Given the description of an element on the screen output the (x, y) to click on. 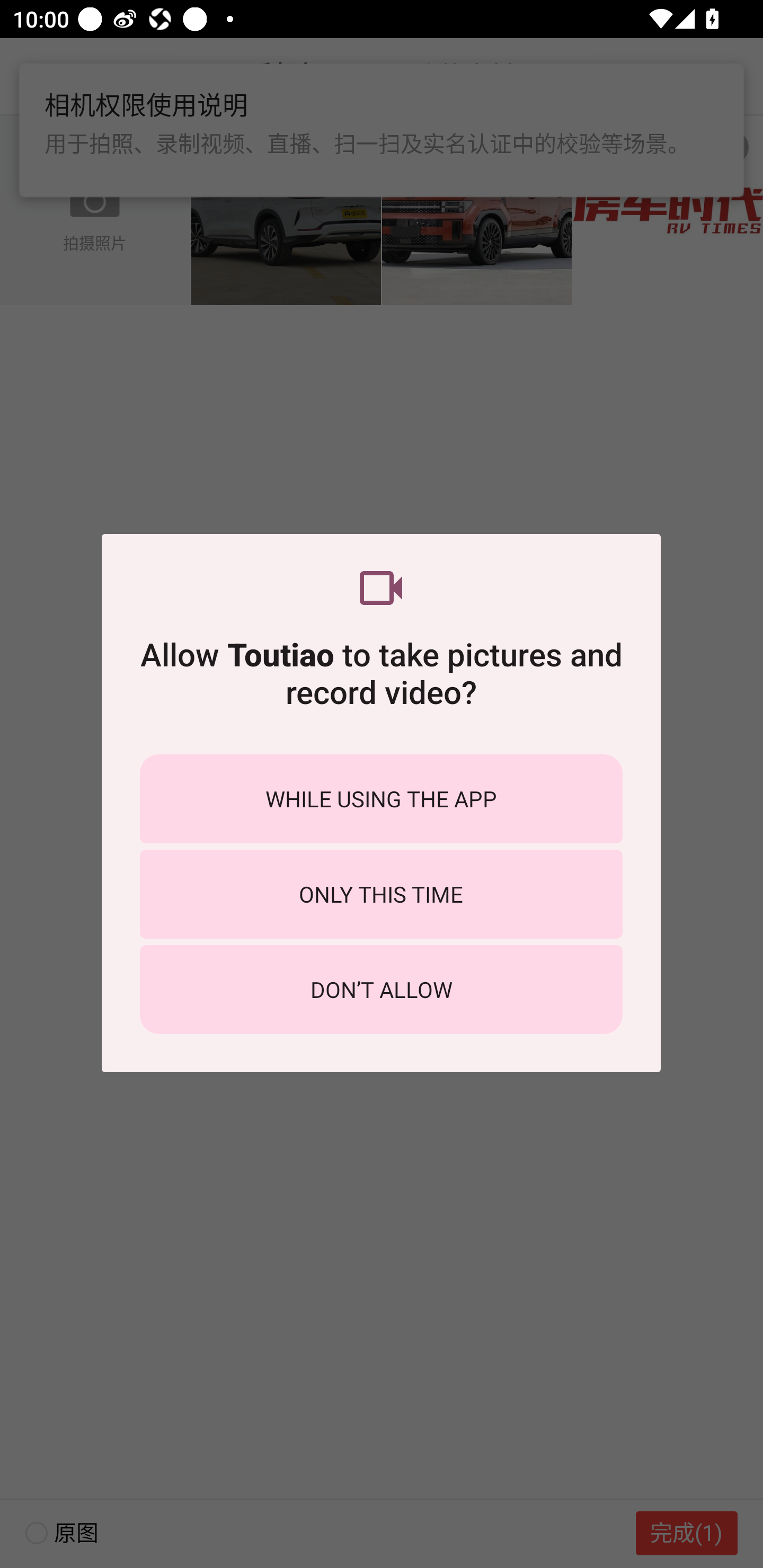
WHILE USING THE APP (380, 798)
ONLY THIS TIME (380, 894)
DON’T ALLOW (380, 989)
